Given the description of an element on the screen output the (x, y) to click on. 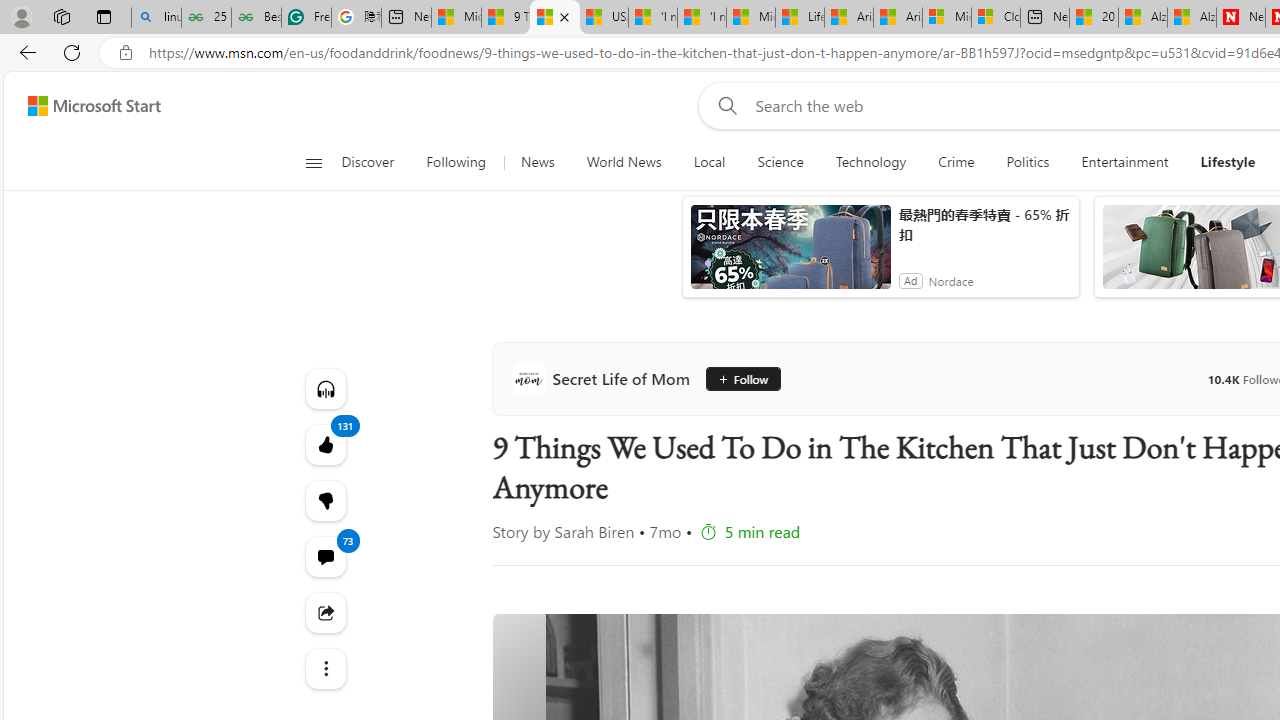
Class: at-item (324, 668)
USA TODAY - MSN (603, 17)
Listen to this article (324, 388)
anim-content (789, 255)
